Given the description of an element on the screen output the (x, y) to click on. 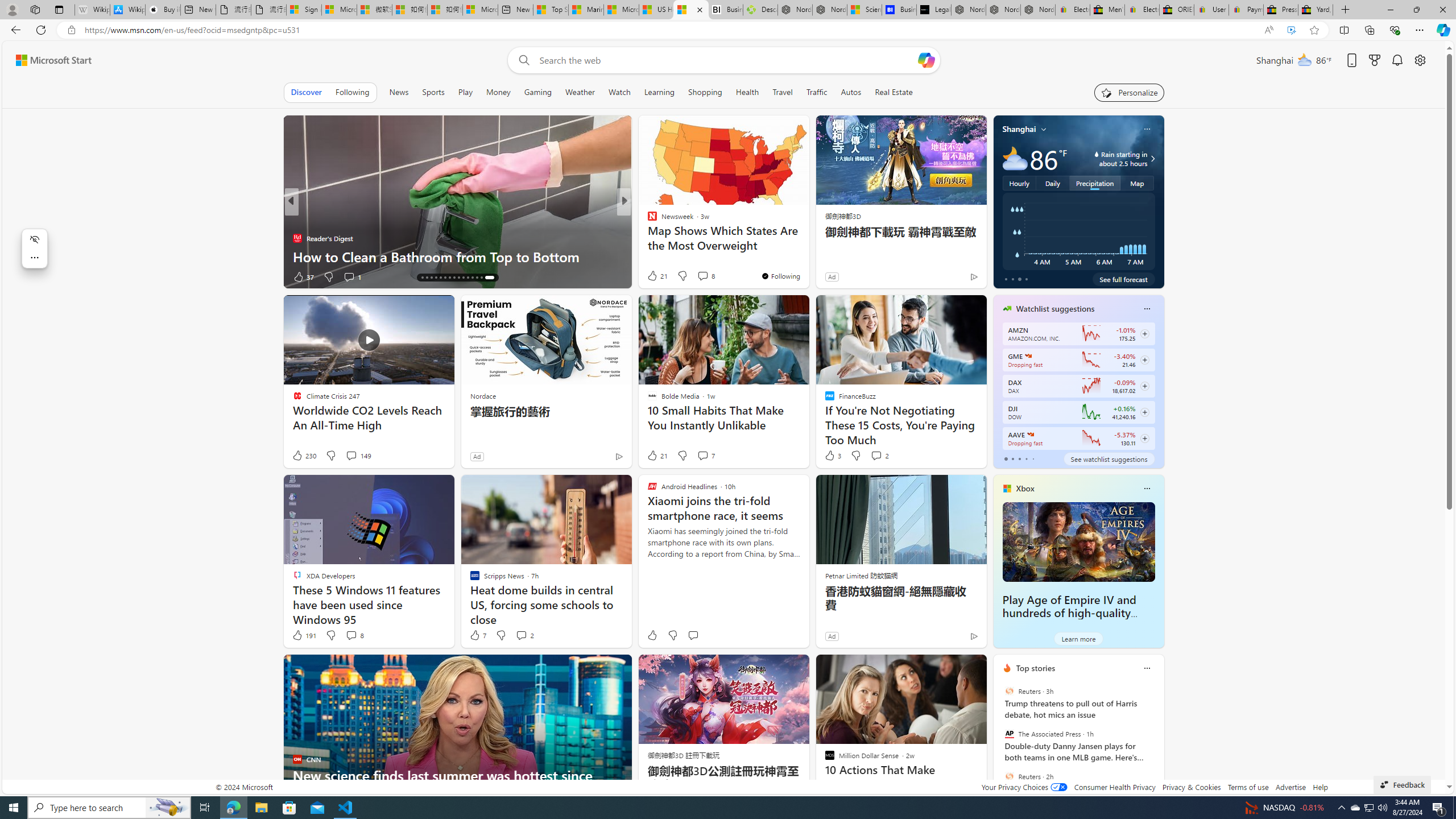
View comments 18 Comment (707, 276)
My location (1043, 128)
Shopping (705, 92)
tab-0 (1005, 458)
MSNBC (647, 219)
1 Like (301, 276)
Xbox (1025, 488)
View comments 149 Comment (350, 455)
SlashGear (647, 238)
